Given the description of an element on the screen output the (x, y) to click on. 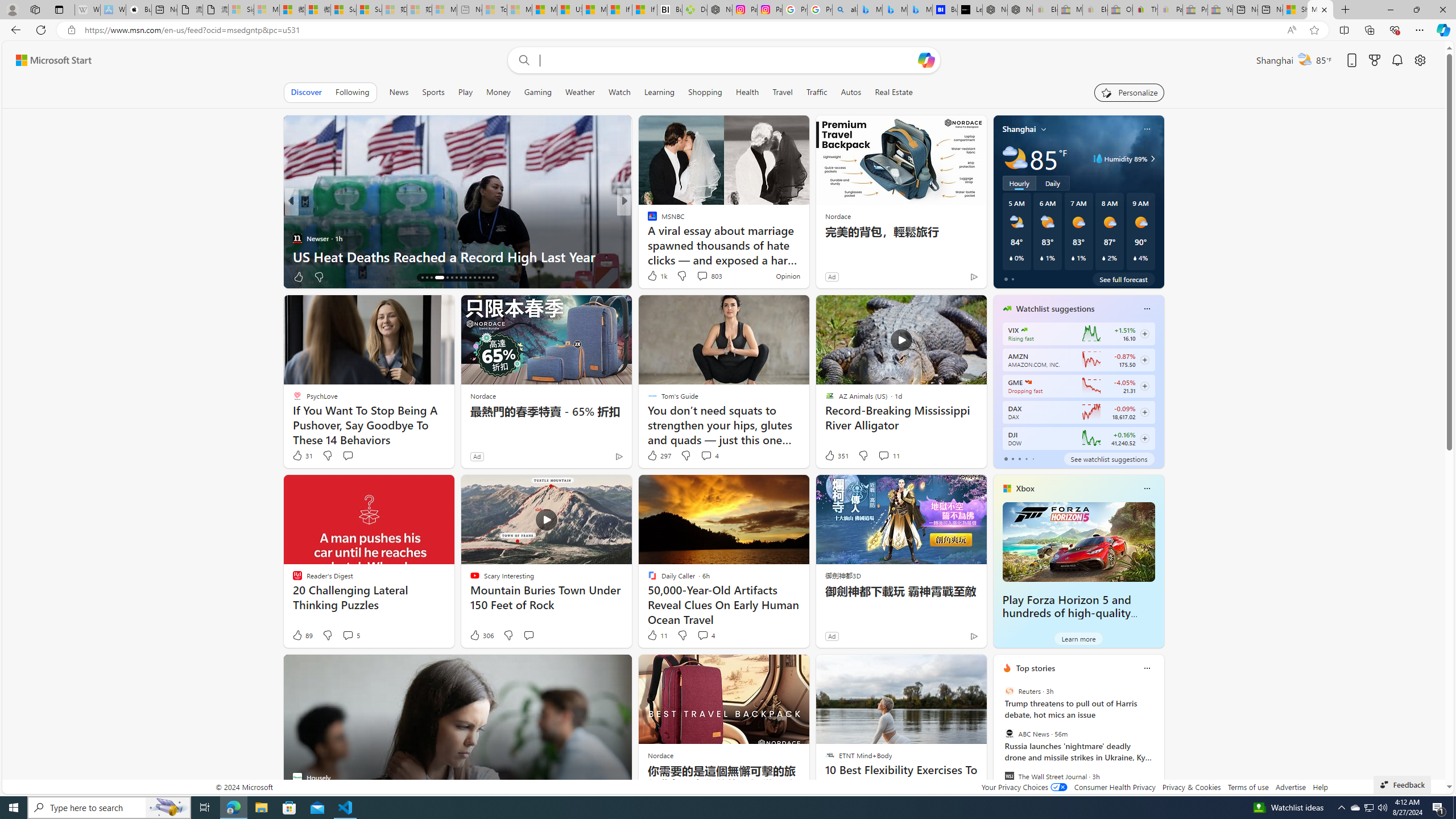
GAMESTOP CORP. (1028, 381)
View comments 11 Comment (888, 455)
Threats and offensive language policy | eBay (1144, 9)
View comments 803 Comment (708, 275)
Watchlist suggestions (1055, 308)
The political reckonings of a progressive church (807, 256)
PCMag (647, 219)
You're following MSNBC (949, 279)
14 Valuable Items in Your Home You Should Never Throw Away (807, 247)
Daily (1052, 183)
View comments 15 Comment (703, 276)
